Given the description of an element on the screen output the (x, y) to click on. 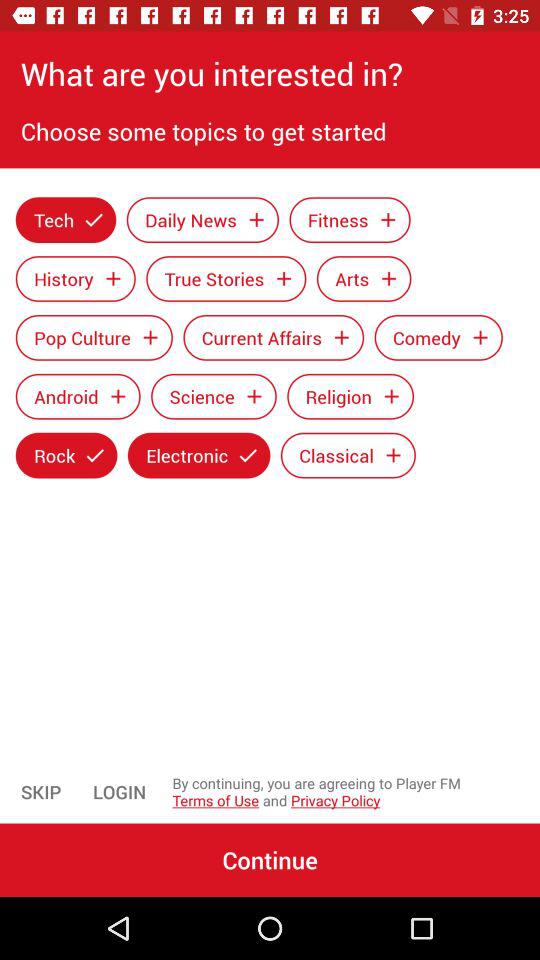
tap the item to the right of the login icon (356, 791)
